Given the description of an element on the screen output the (x, y) to click on. 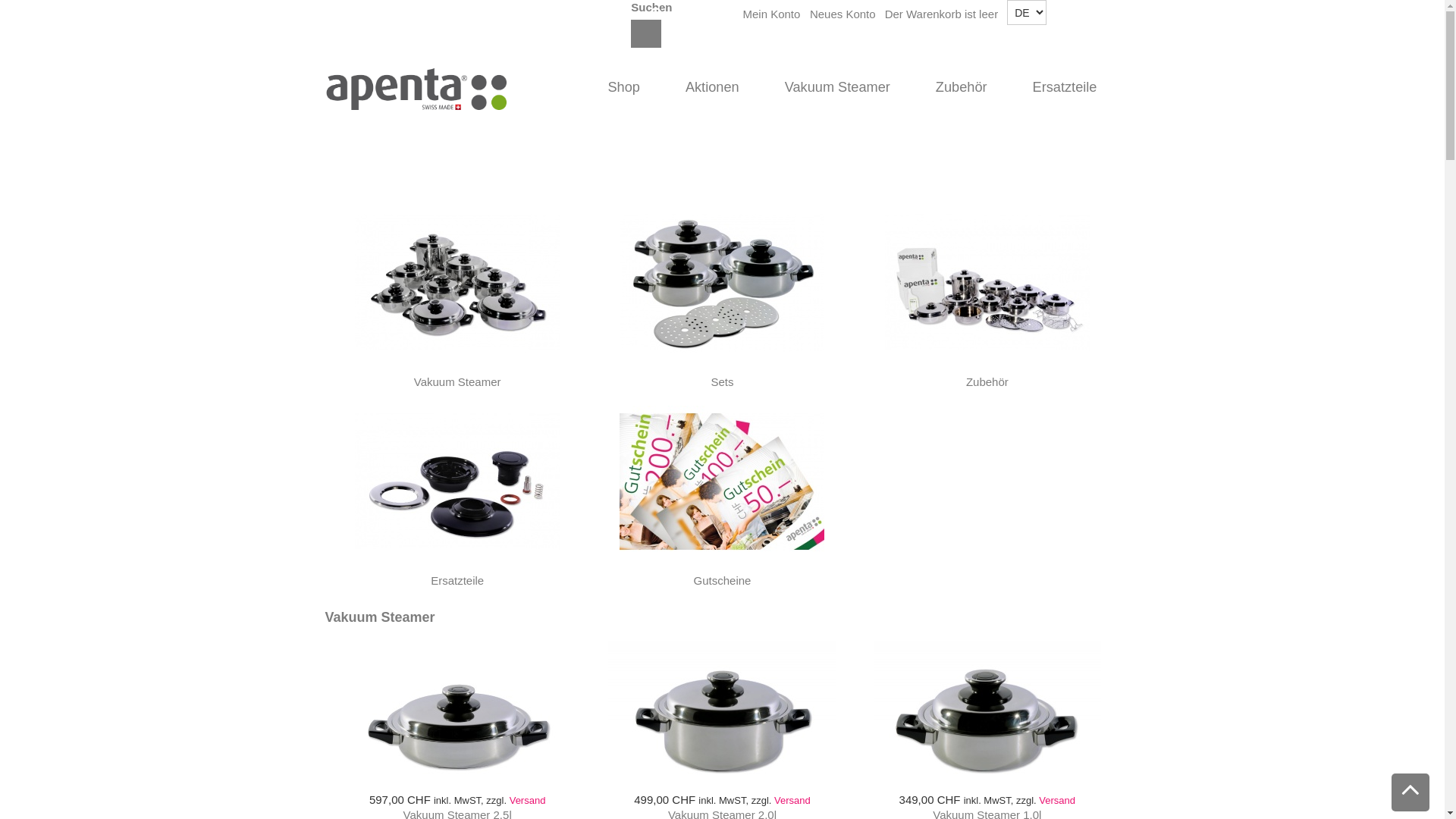
Versand Element type: text (792, 800)
Aktionen Element type: text (712, 87)
Vakuum Steamer Element type: hover (456, 281)
Sets Element type: text (721, 381)
Shop Element type: text (623, 87)
Versand Element type: text (1056, 800)
Versand Element type: text (527, 800)
Ersatzteile Element type: text (1065, 87)
Ersatzteile Element type: hover (456, 479)
Vakuum Steamer Element type: text (457, 381)
Neues Konto Element type: text (842, 13)
Vakuum Steamer 2.0l - Pfanne 2l mit Deckel Element type: hover (721, 716)
Gutscheine Element type: hover (721, 479)
Ersatzteile Element type: text (456, 580)
Gutscheine Element type: text (722, 580)
Vakuum Steamer Element type: text (837, 87)
Mein Konto Element type: text (771, 13)
Sets Element type: hover (721, 281)
